Given the description of an element on the screen output the (x, y) to click on. 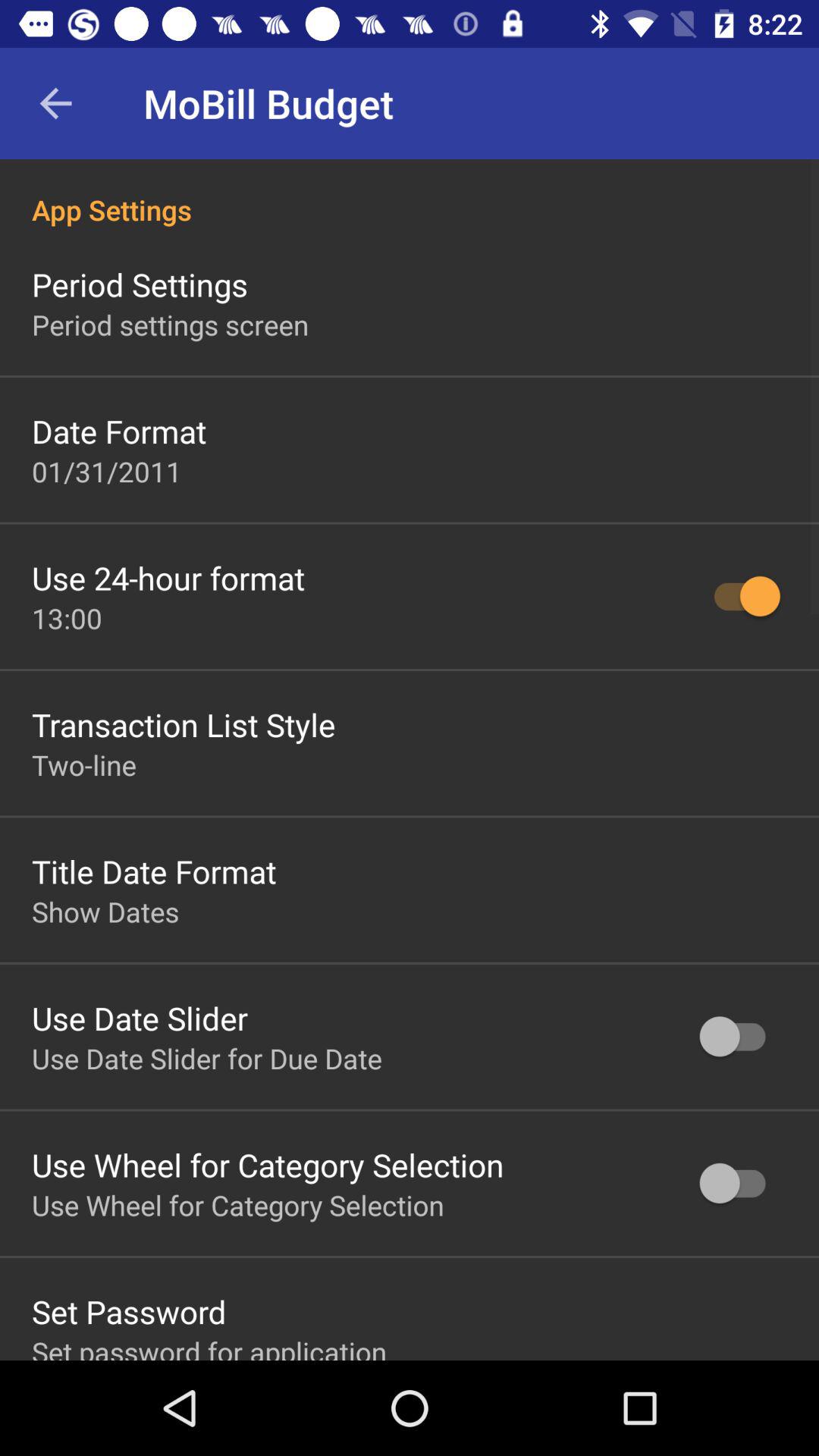
launch the icon to the left of mobill budget item (55, 103)
